Given the description of an element on the screen output the (x, y) to click on. 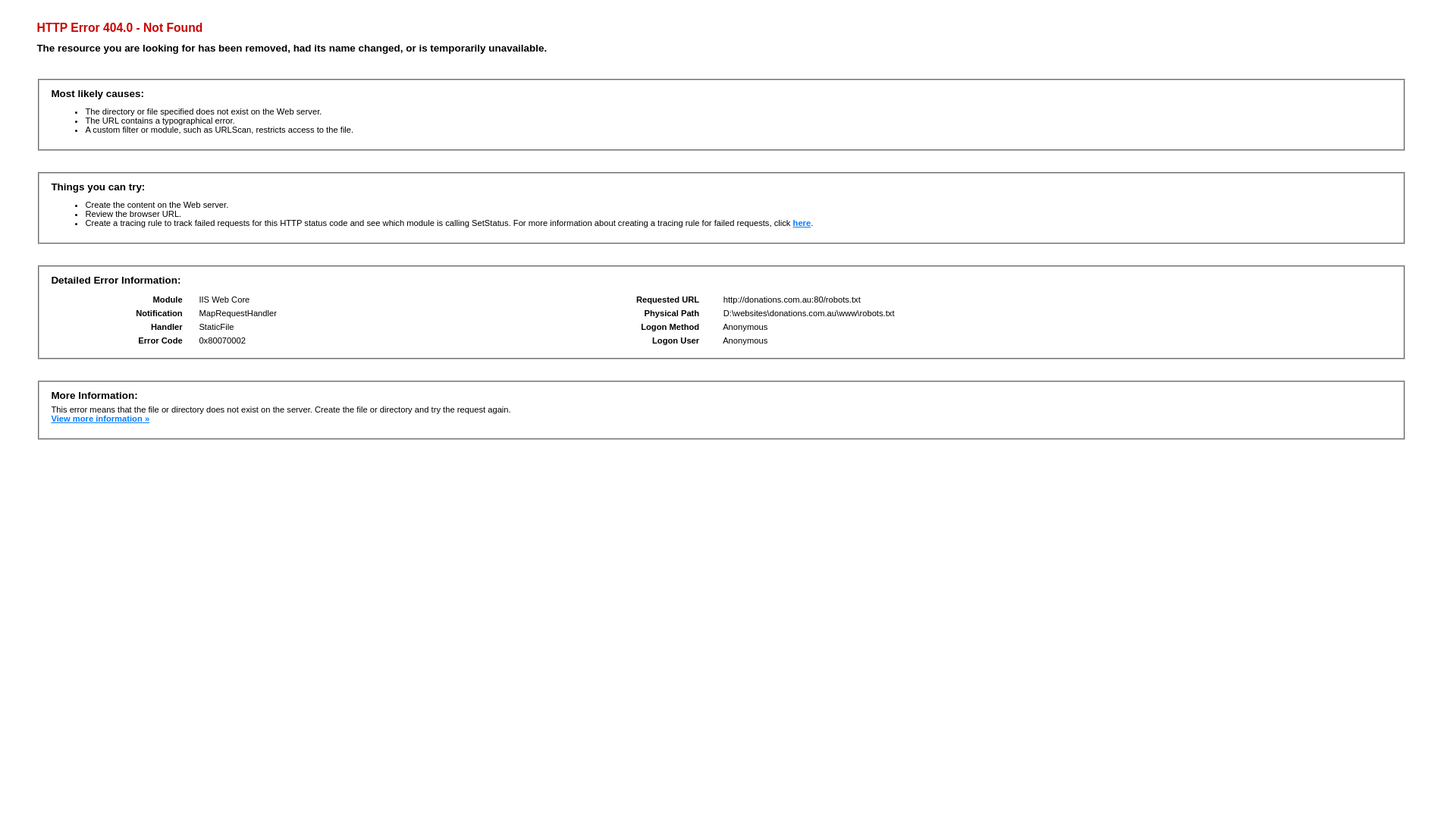
here Element type: text (802, 222)
